Given the description of an element on the screen output the (x, y) to click on. 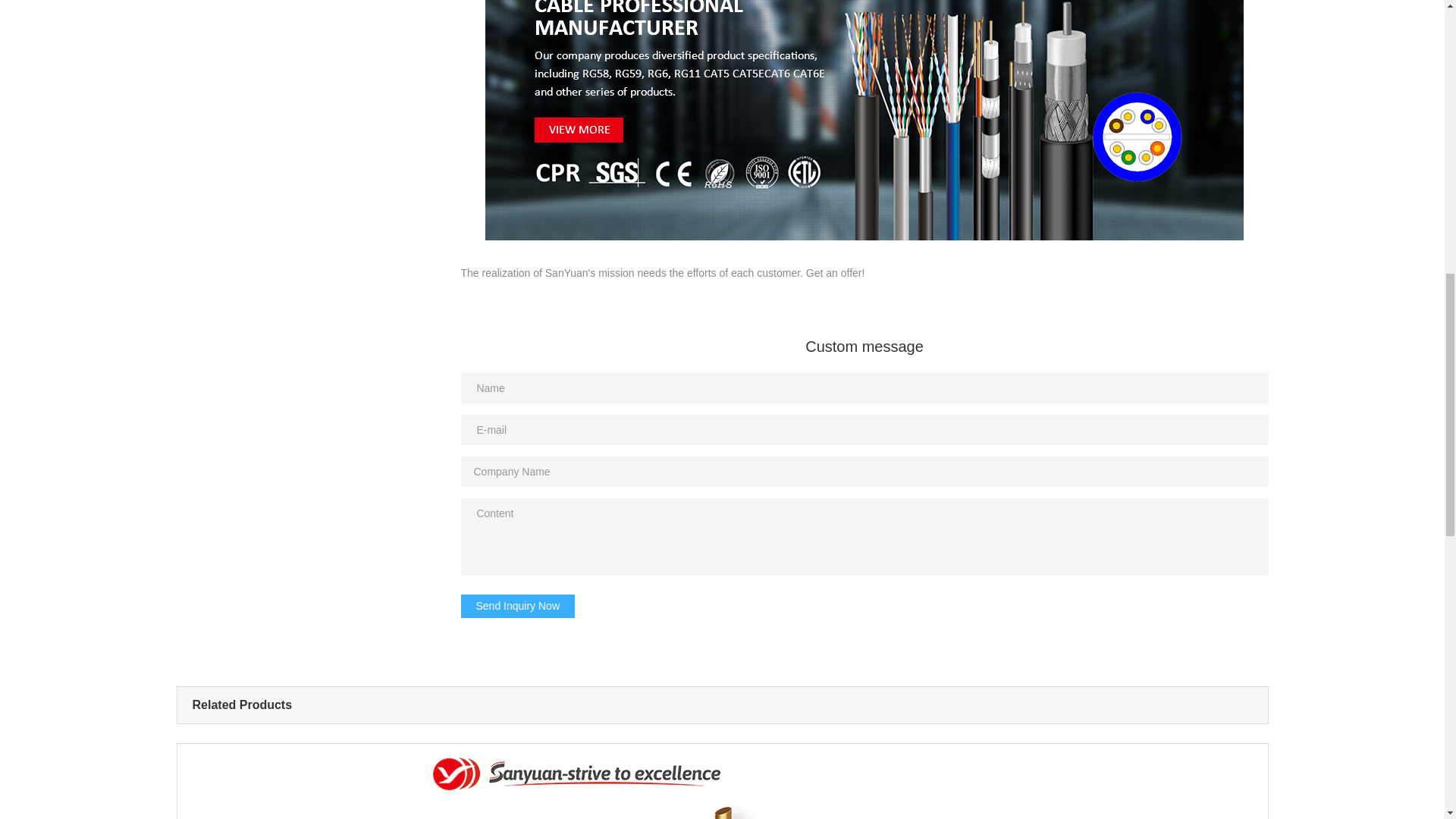
Send Inquiry Now (518, 606)
